Given the description of an element on the screen output the (x, y) to click on. 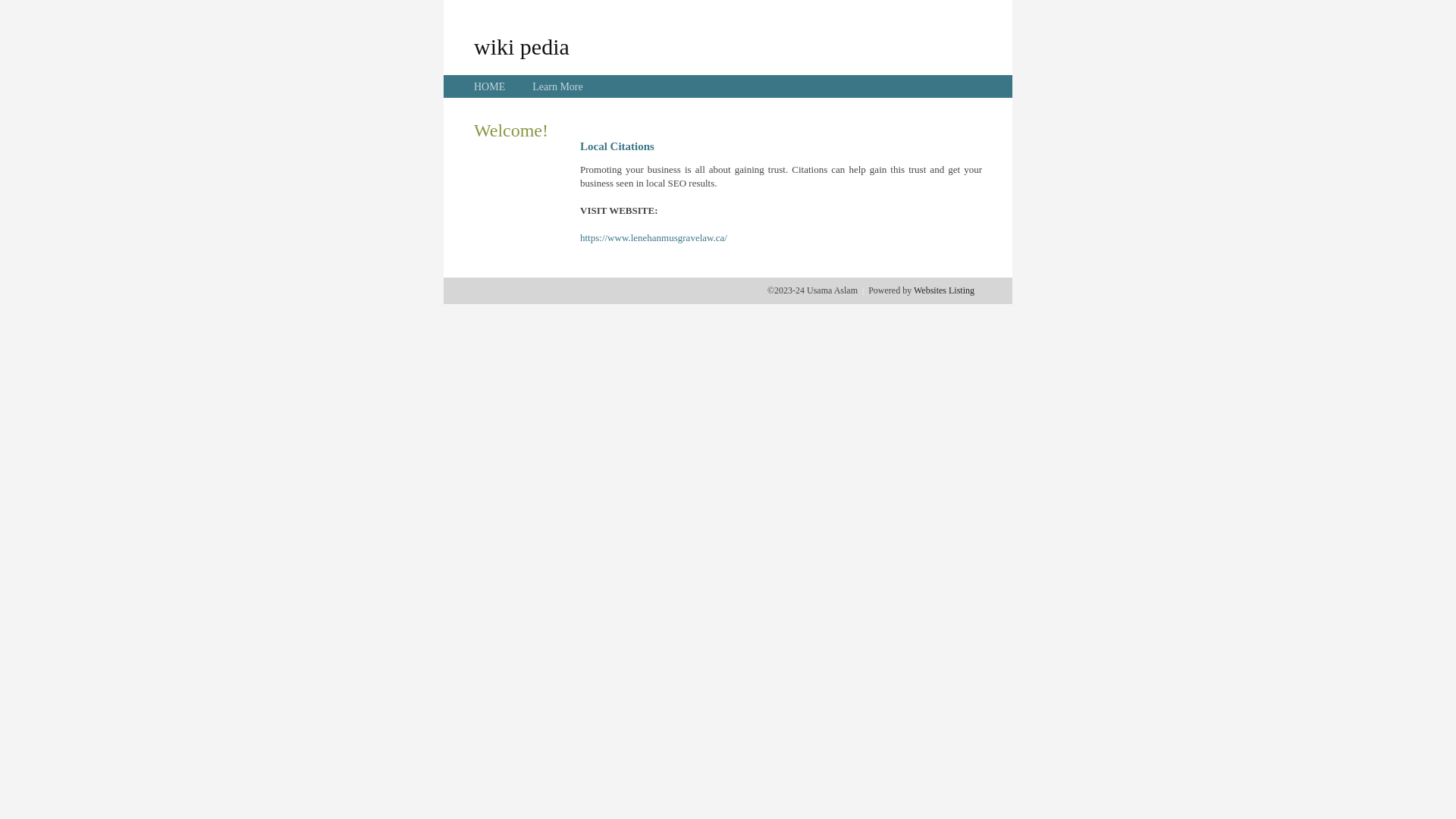
wiki pedia Element type: text (521, 46)
https://www.lenehanmusgravelaw.ca/ Element type: text (653, 237)
Learn More Element type: text (557, 86)
Websites Listing Element type: text (943, 290)
HOME Element type: text (489, 86)
